Given the description of an element on the screen output the (x, y) to click on. 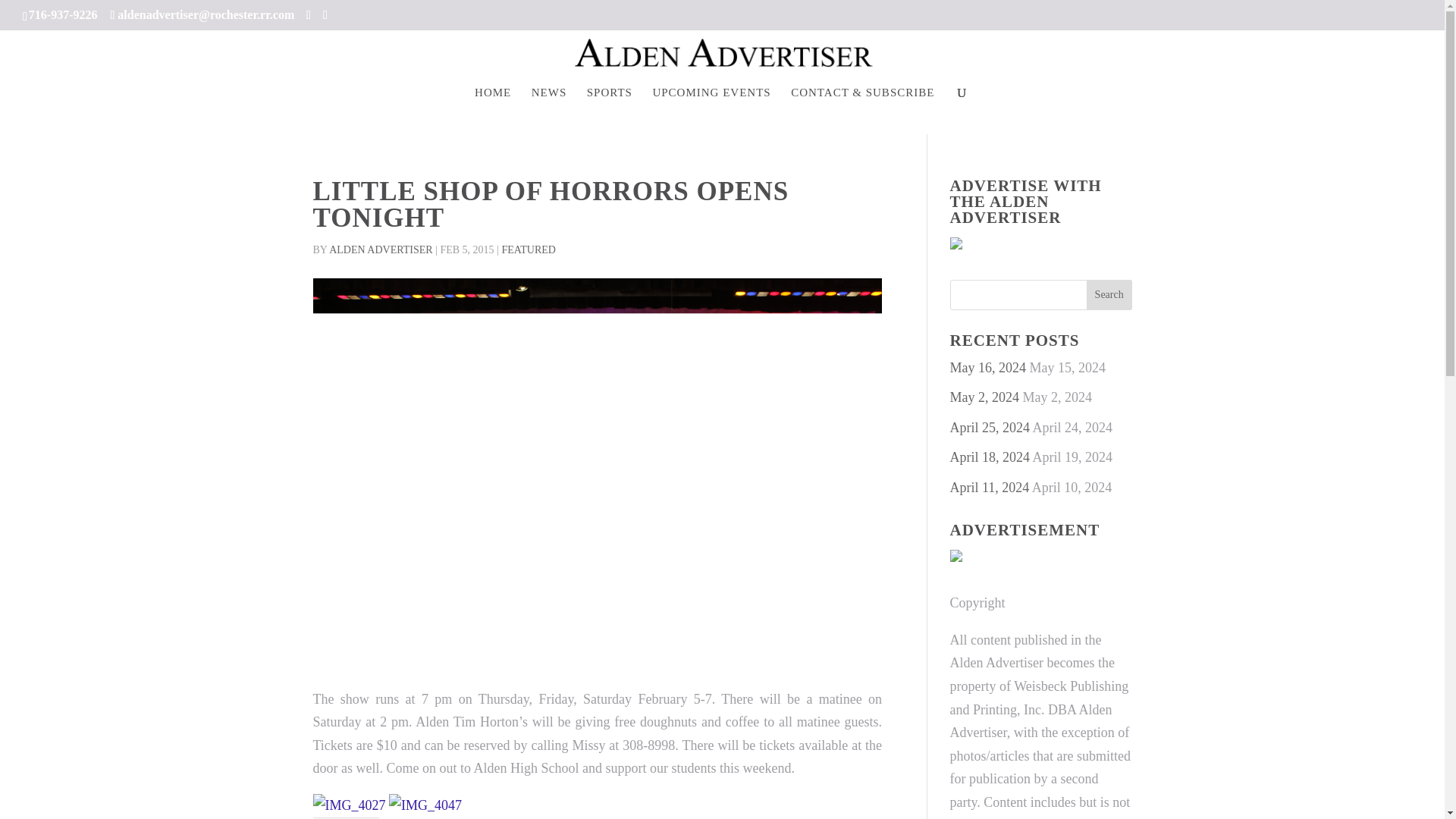
May 16, 2024 (987, 367)
April 18, 2024 (989, 457)
UPCOMING EVENTS (711, 97)
ALDEN ADVERTISER (380, 249)
April 11, 2024 (989, 487)
Search (1109, 295)
NEWS (549, 97)
HOME (492, 97)
Search (1109, 295)
FEATURED (528, 249)
